Given the description of an element on the screen output the (x, y) to click on. 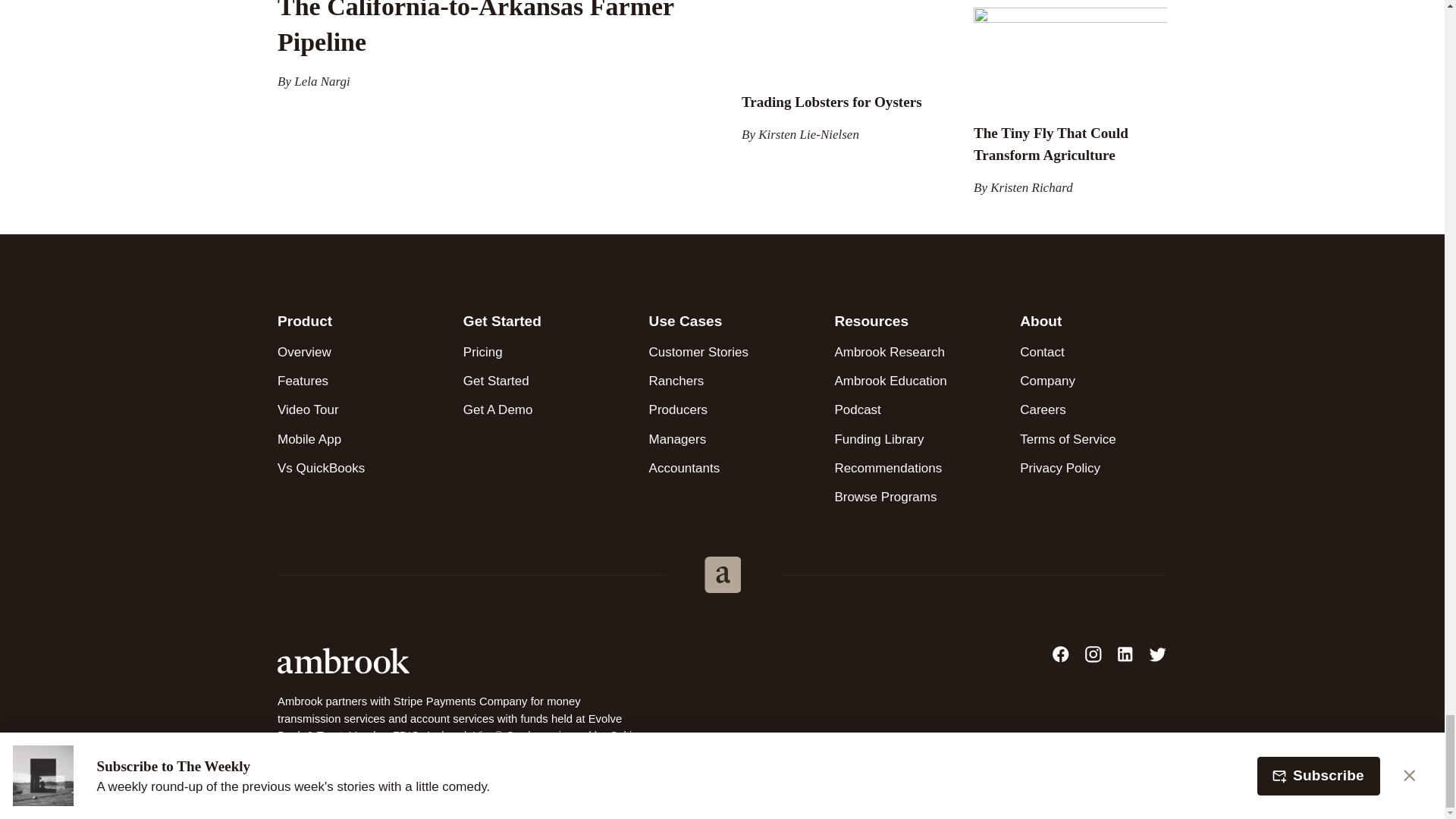
Overview (351, 351)
Kristen Richard (1030, 187)
Features (351, 381)
Lela Nargi (322, 81)
Trading Lobsters for Oysters (831, 101)
Mobile App (351, 439)
The Tiny Fly That Could Transform Agriculture (1051, 144)
The California-to-Arkansas Farmer Pipeline (476, 28)
Video Tour (351, 409)
Kirsten Lie-Nielsen (808, 134)
